Given the description of an element on the screen output the (x, y) to click on. 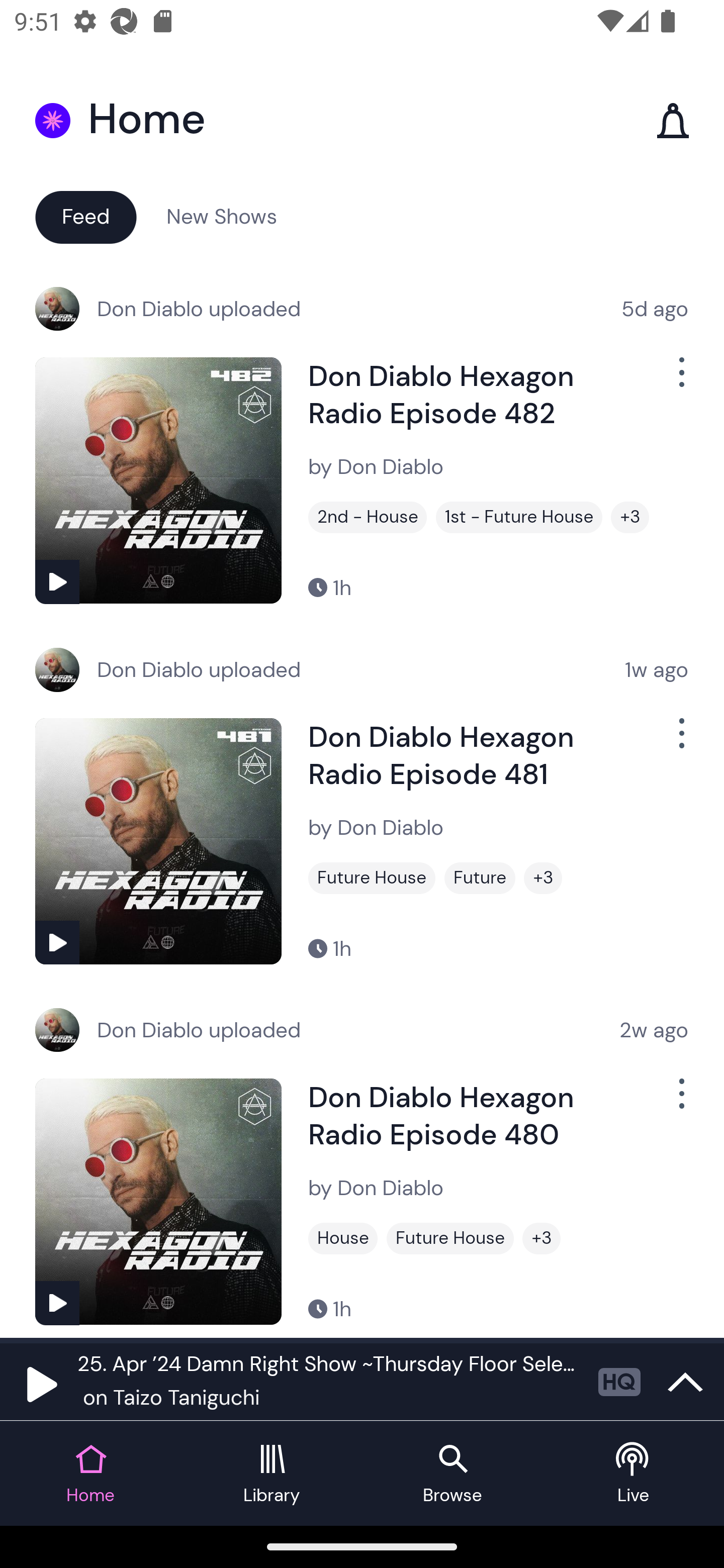
Feed (85, 216)
New Shows (221, 216)
Show Options Menu Button (679, 379)
2nd - House (367, 517)
1st - Future House (518, 517)
Show Options Menu Button (679, 740)
Future House (371, 877)
Future (479, 877)
Show Options Menu Button (679, 1101)
House (342, 1238)
Future House (450, 1238)
Home tab Home (90, 1473)
Library tab Library (271, 1473)
Browse tab Browse (452, 1473)
Live tab Live (633, 1473)
